Given the description of an element on the screen output the (x, y) to click on. 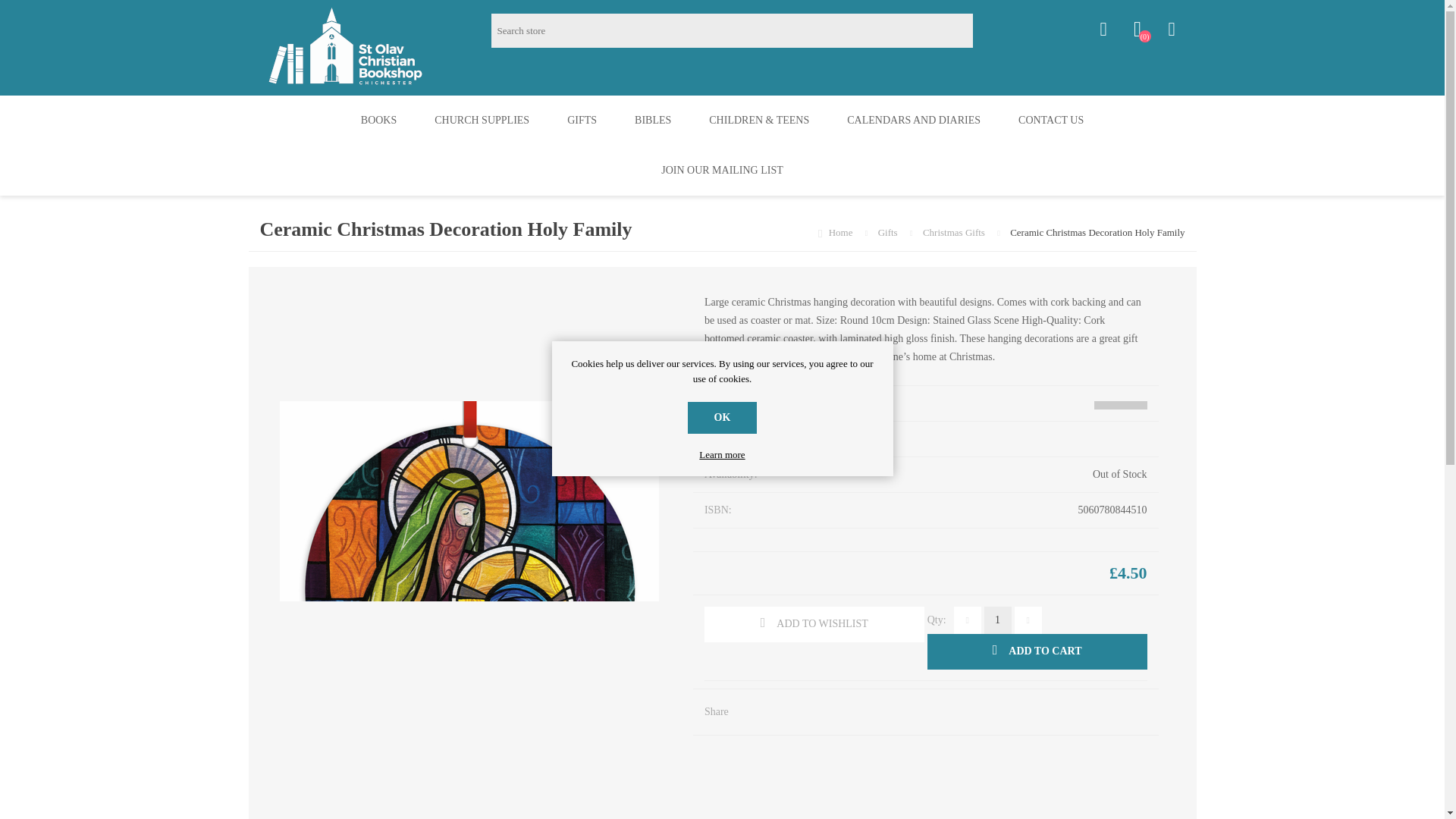
ADD TO WISHLIST (814, 624)
Shopping cart (1171, 29)
Calendars and Diaries (913, 120)
Join our Mailing List (722, 170)
Gifts (581, 120)
Church Supplies (481, 120)
Search (989, 30)
Search (989, 30)
CONTACT US (1050, 120)
